Given the description of an element on the screen output the (x, y) to click on. 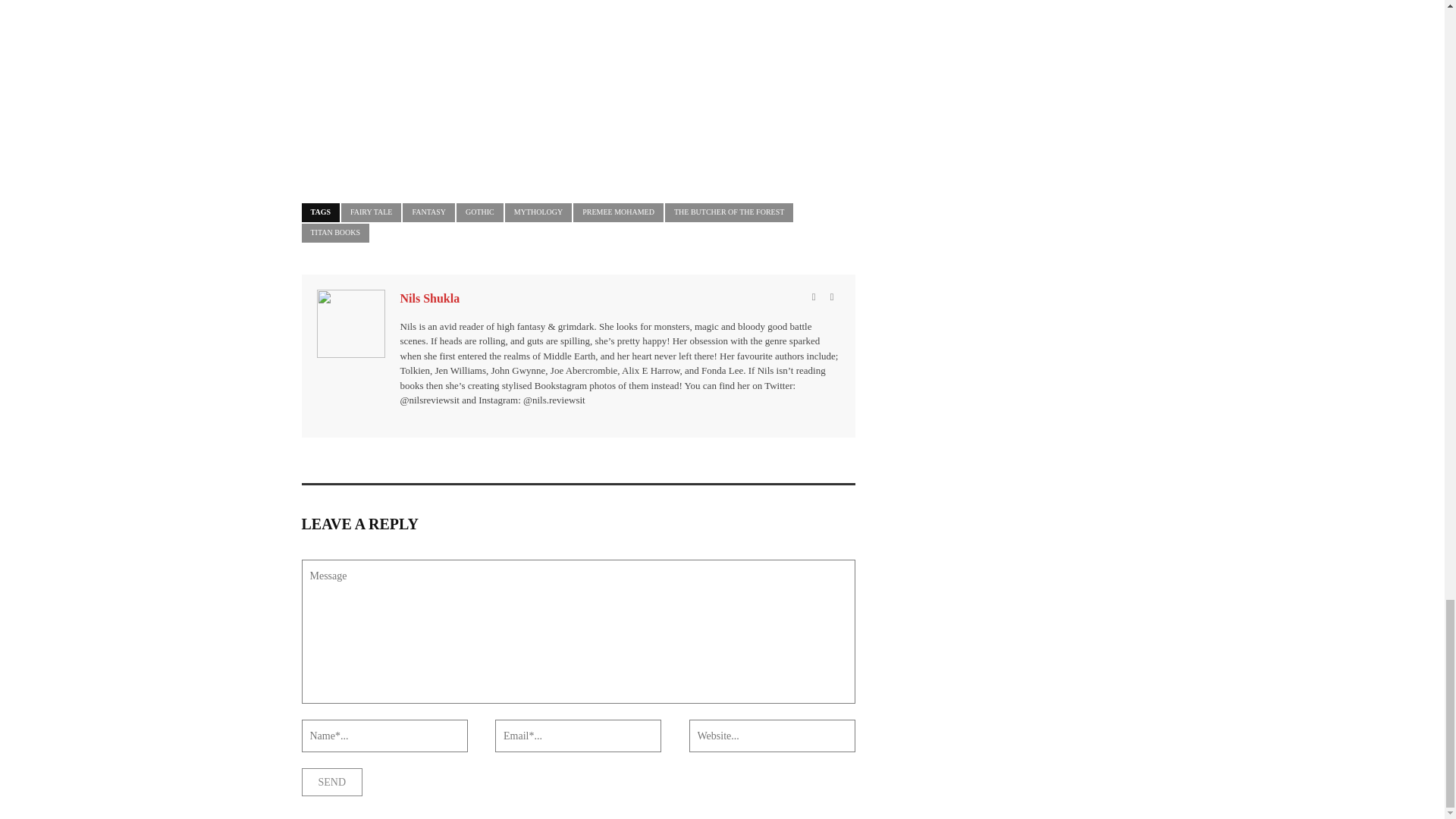
View all posts tagged fantasy (428, 212)
View all posts tagged fairy tale (370, 212)
Send (331, 782)
View all posts tagged Titan Books (335, 231)
View all posts tagged Premee Mohamed (618, 212)
Twitter (831, 296)
View all posts tagged The Butcher of the Forest (729, 212)
View all posts tagged Gothic (480, 212)
View all posts tagged Mythology (538, 212)
